Given the description of an element on the screen output the (x, y) to click on. 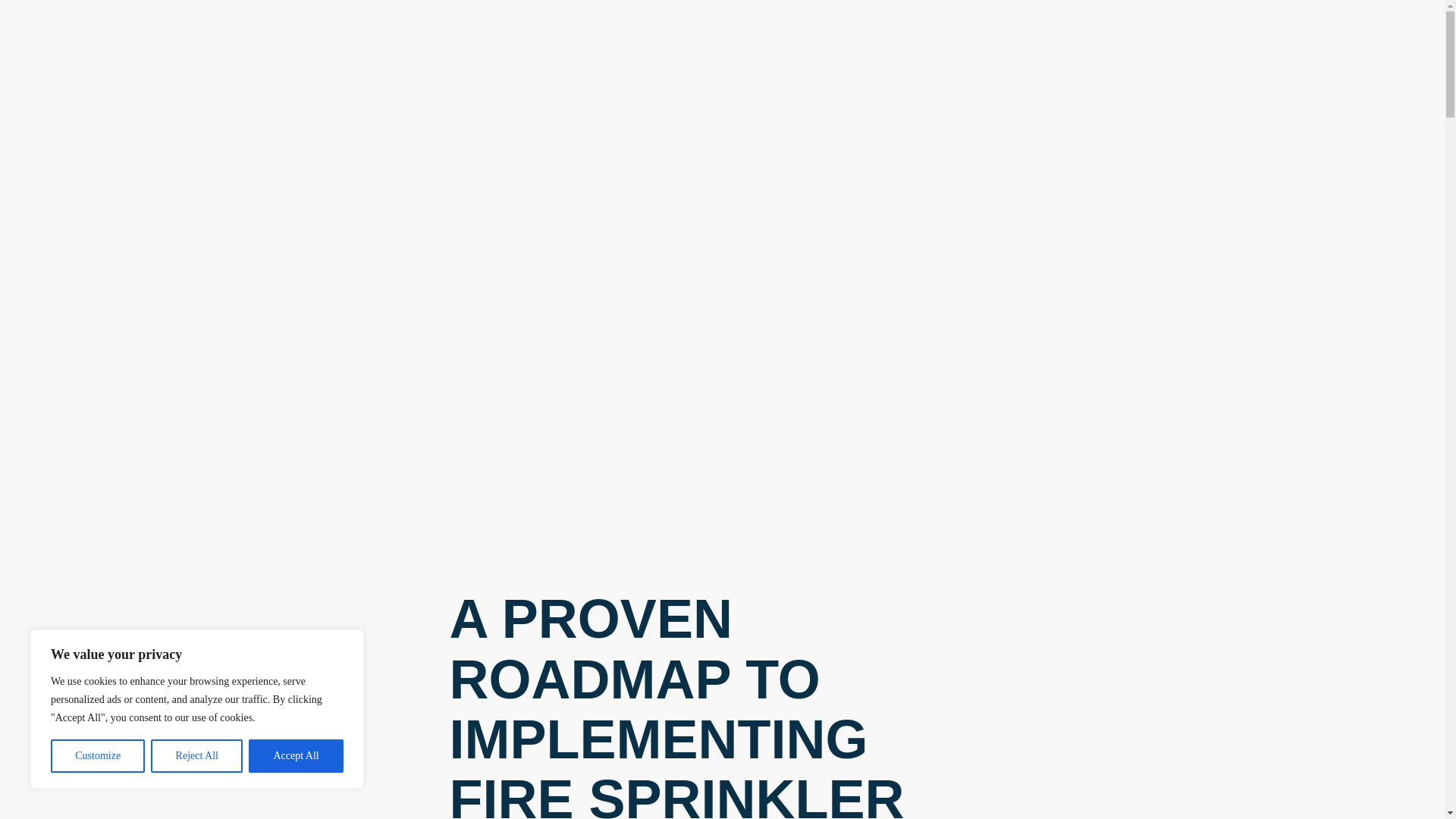
Customize (97, 756)
Reject All (197, 756)
Accept All (295, 756)
